Given the description of an element on the screen output the (x, y) to click on. 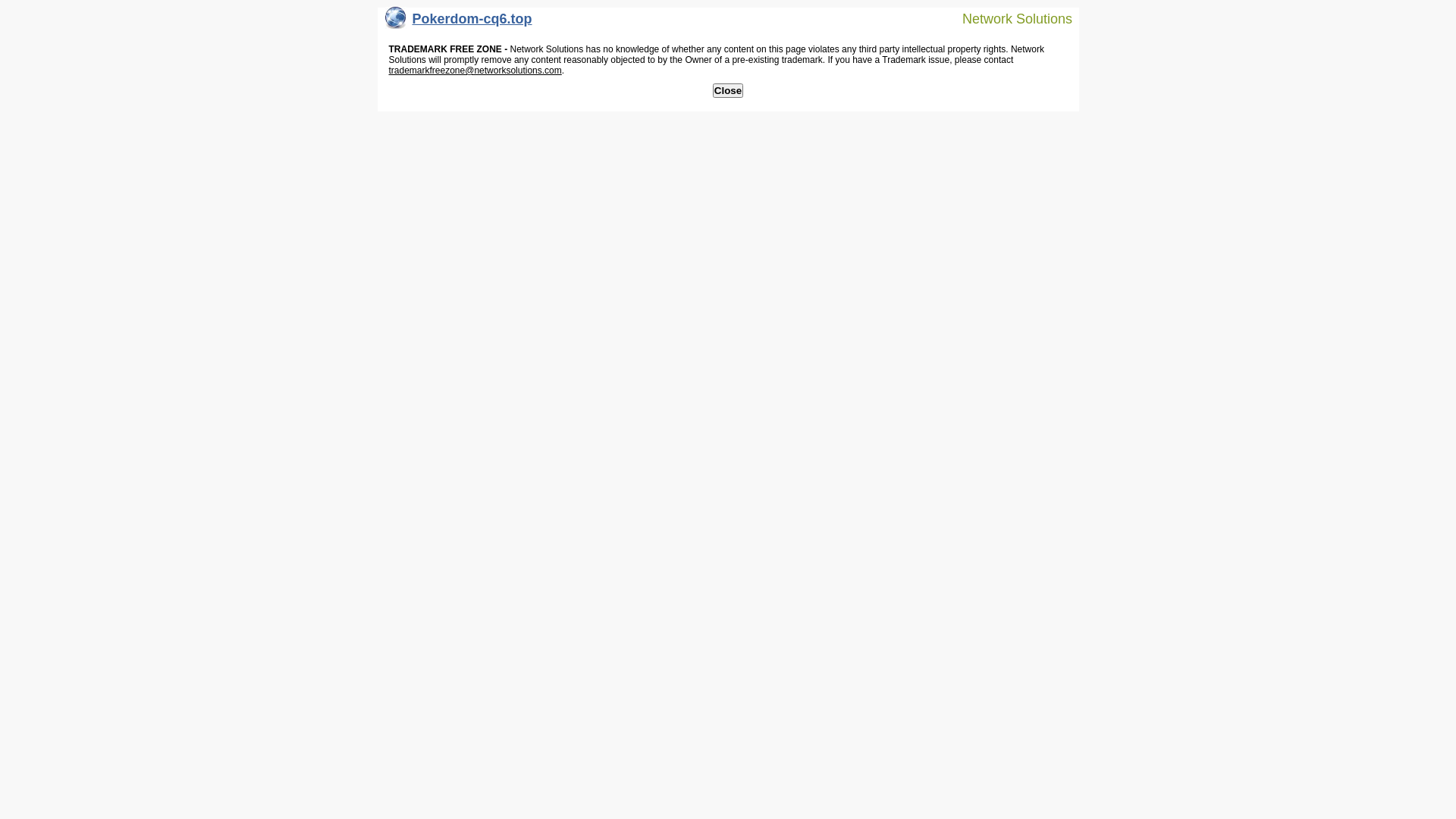
trademarkfreezone@networksolutions.com Element type: text (474, 70)
Close Element type: text (727, 90)
Network Solutions Element type: text (1007, 17)
Pokerdom-cq6.top Element type: text (458, 21)
